Given the description of an element on the screen output the (x, y) to click on. 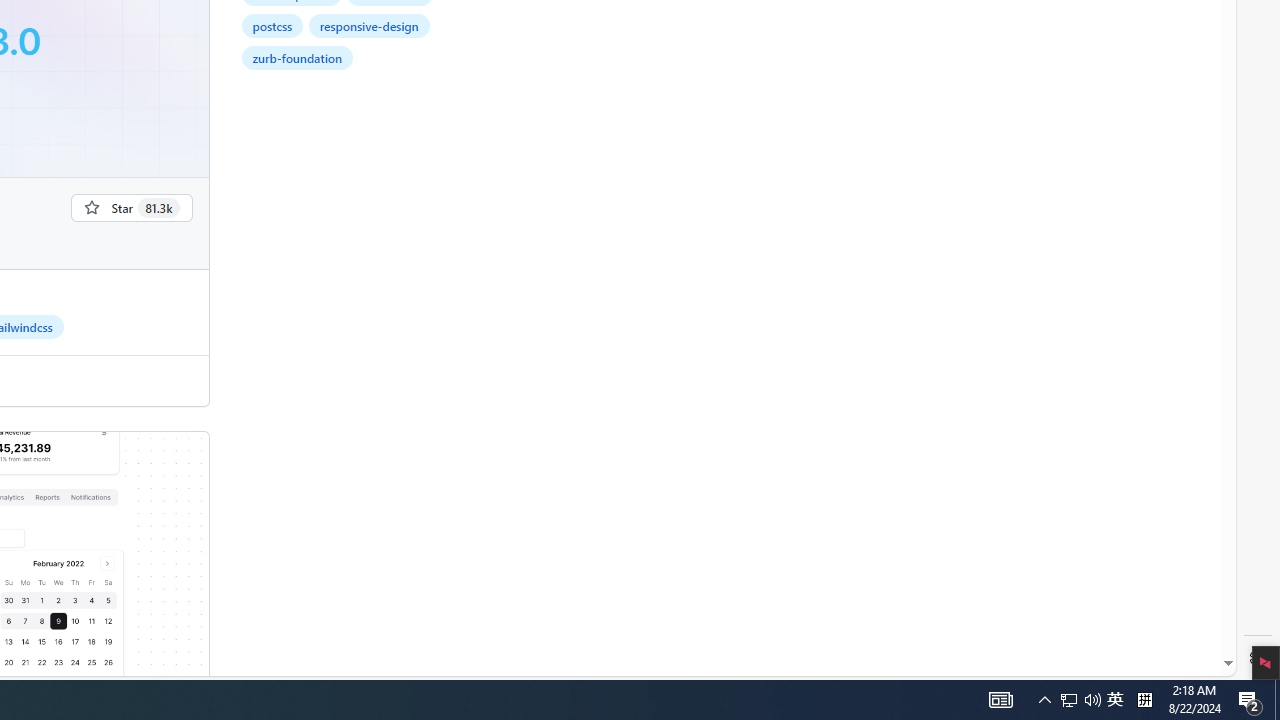
zurb-foundation (297, 57)
responsive-design (369, 25)
You must be signed in to star a repository (131, 207)
postcss (272, 25)
